Given the description of an element on the screen output the (x, y) to click on. 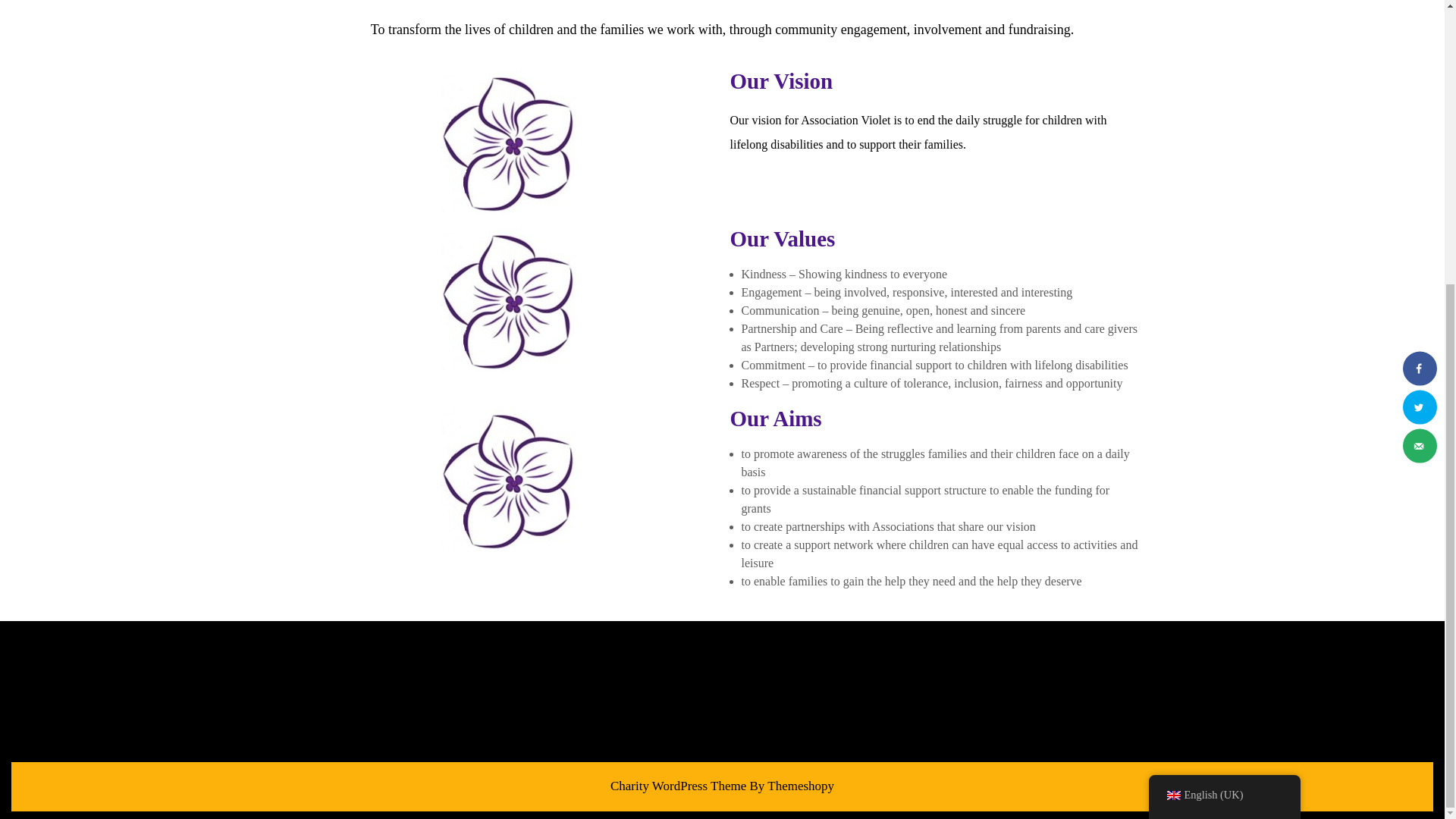
Send over email (1420, 18)
Charity WordPress Theme (677, 785)
Privacy Policy (599, 645)
